Given the description of an element on the screen output the (x, y) to click on. 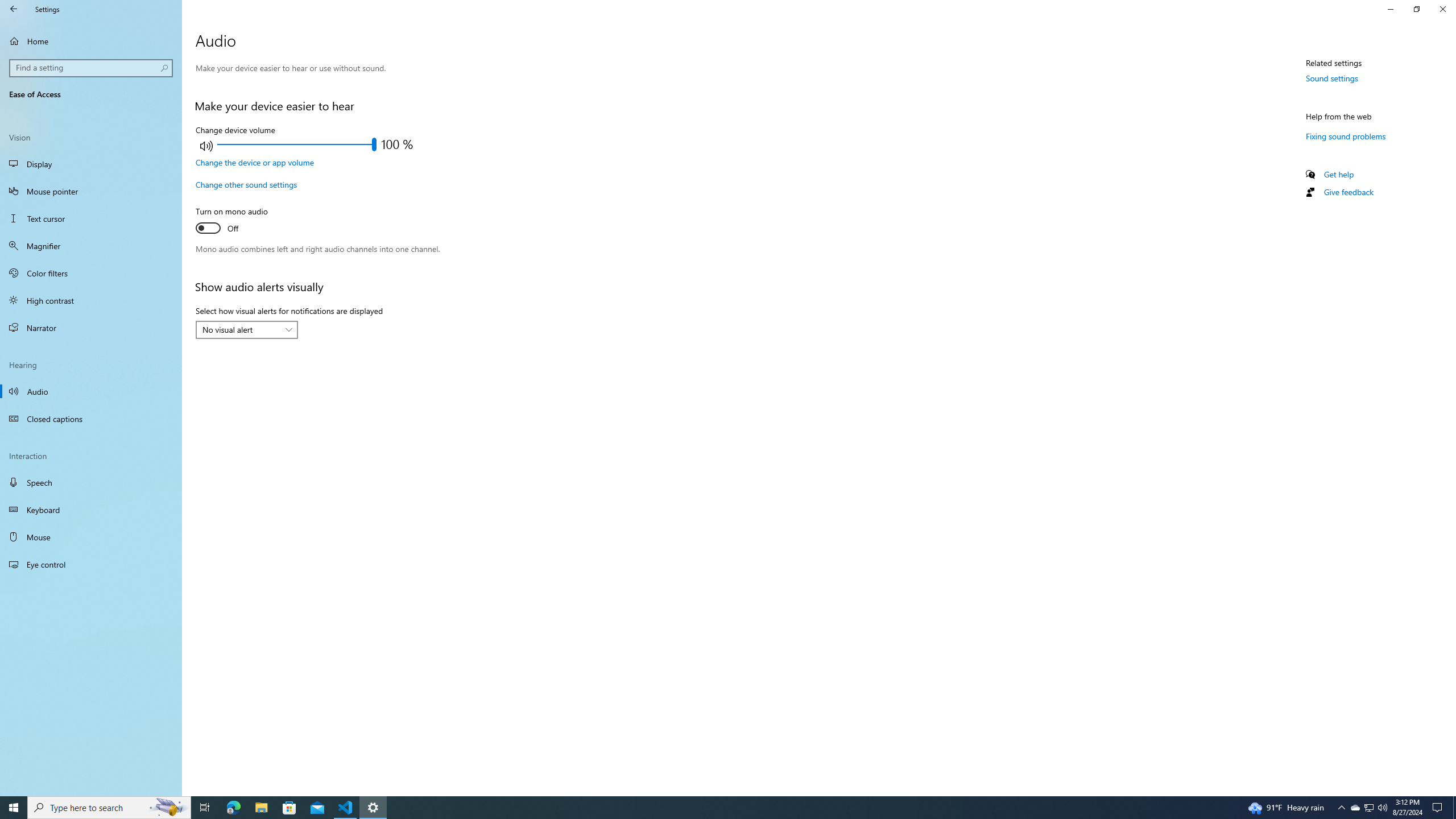
Narrator (91, 327)
Change other sound settings (246, 184)
Select how visual alerts for notifications are displayed (246, 330)
Minimize Settings (1390, 9)
Close Settings (1442, 9)
Color filters (91, 272)
Keyboard (91, 509)
Text cursor (91, 217)
Mouse pointer (91, 190)
